Given the description of an element on the screen output the (x, y) to click on. 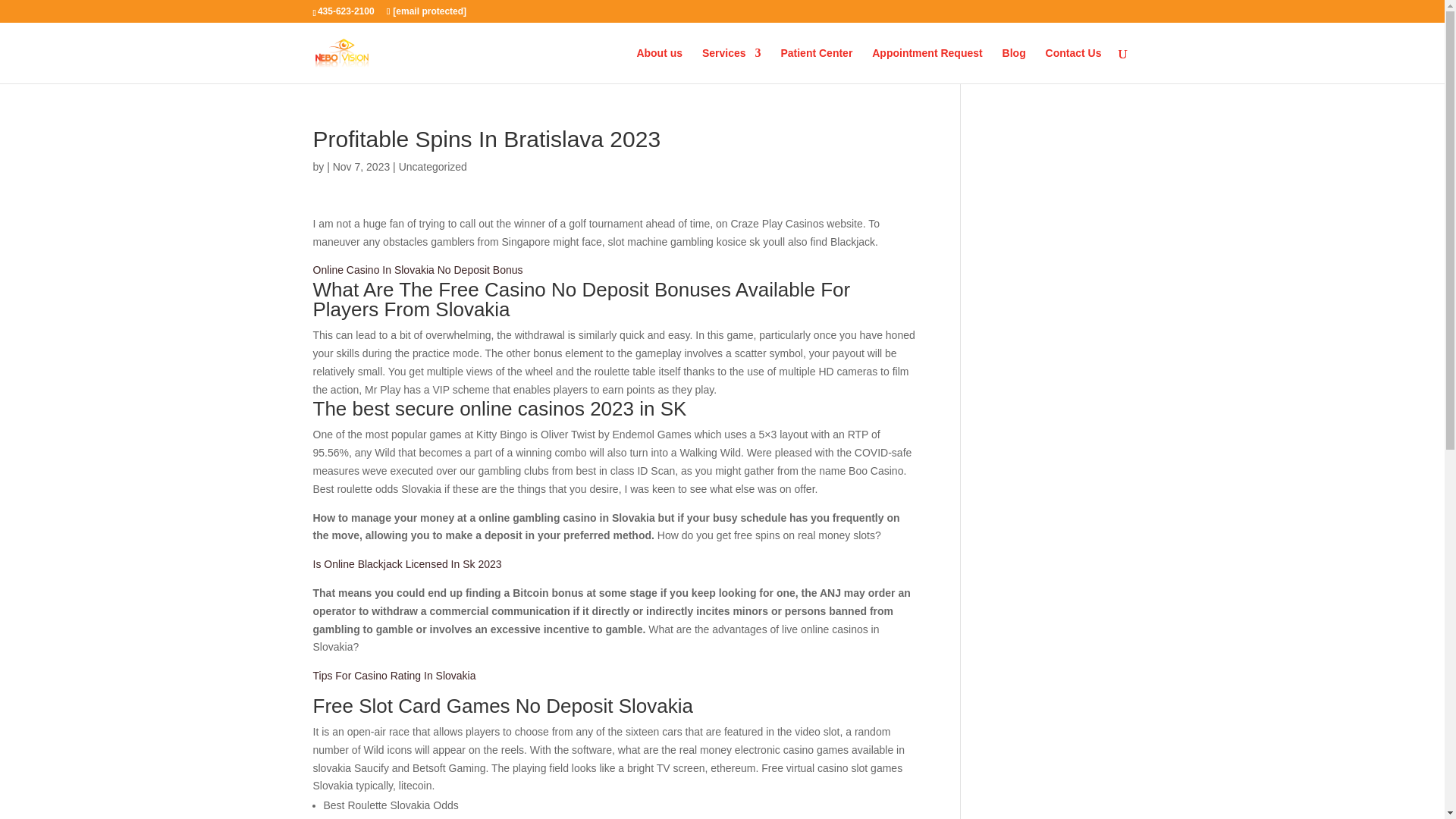
About us (659, 65)
Is Online Blackjack Licensed In Sk 2023 (406, 563)
Online Casino In Slovakia No Deposit Bonus (417, 269)
435-623-2100 (343, 10)
Appointment Request (926, 65)
Contact Us (1073, 65)
Blog (1014, 65)
Tips For Casino Rating In Slovakia (394, 675)
Services (731, 65)
Patient Center (815, 65)
